Given the description of an element on the screen output the (x, y) to click on. 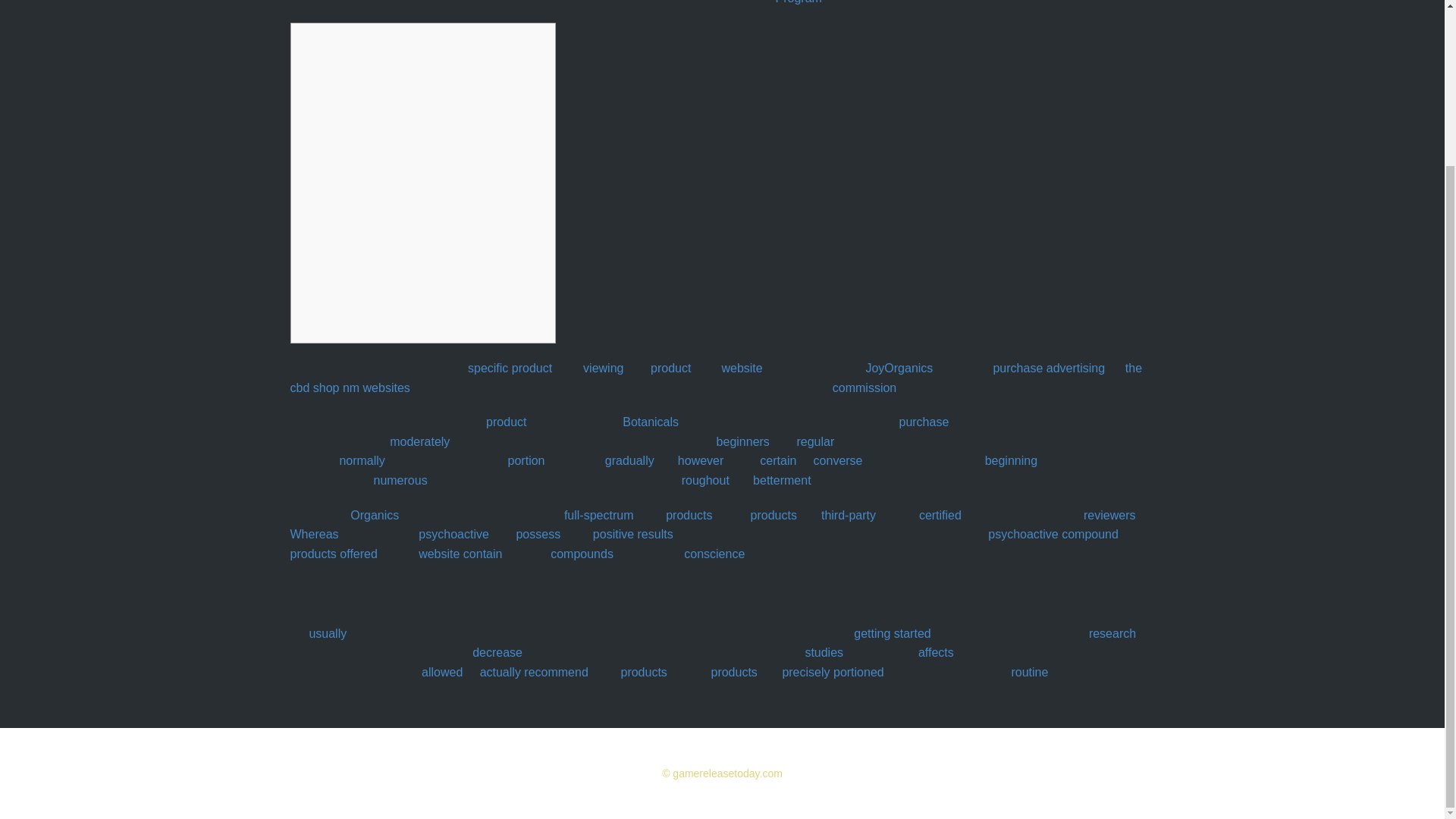
Program (797, 2)
specific (487, 367)
viewing (603, 367)
advertising (1075, 367)
website (740, 367)
JoyOrganics (898, 367)
product (670, 367)
purchase (1017, 367)
product (531, 367)
